Given the description of an element on the screen output the (x, y) to click on. 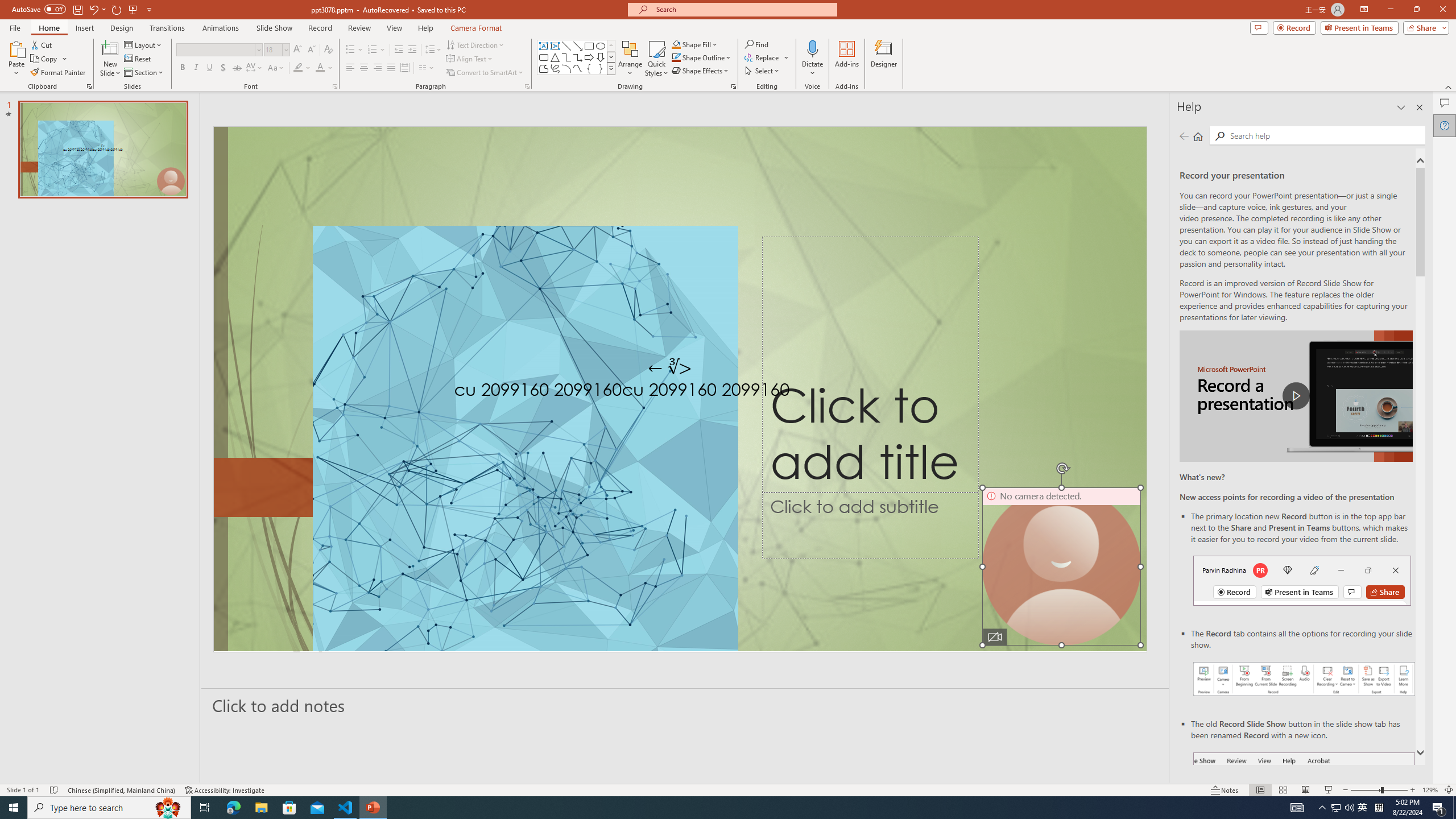
File Tab (15, 27)
Paragraph... (526, 85)
Redo (117, 9)
Columns (426, 67)
Slide Notes (685, 705)
Center (363, 67)
Connector: Elbow (566, 57)
Animations (220, 28)
Text Direction (476, 44)
An abstract genetic concept (680, 388)
Copy (45, 58)
Reset (138, 58)
New Slide (110, 48)
Replace... (762, 56)
